Given the description of an element on the screen output the (x, y) to click on. 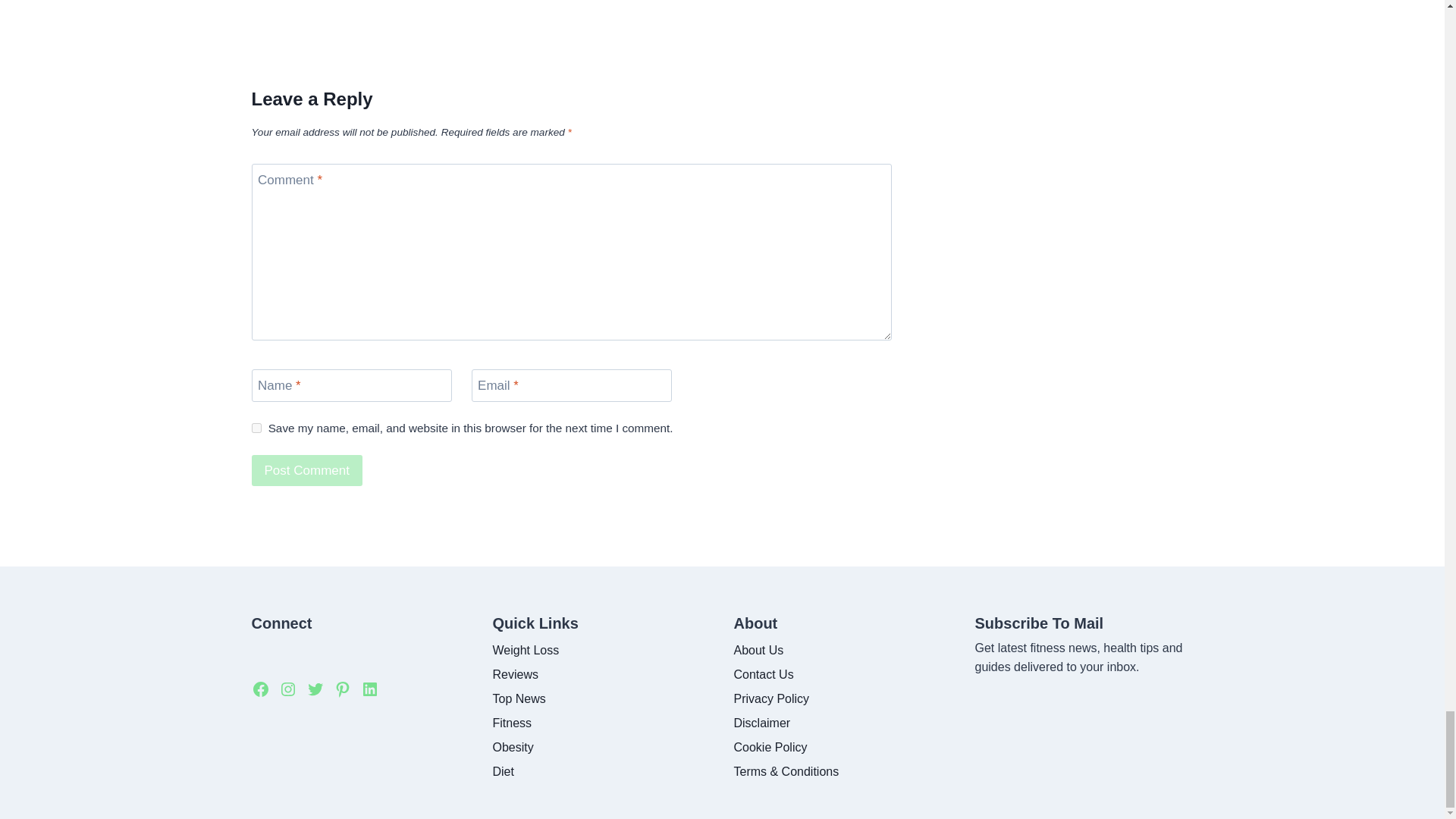
yes (256, 428)
Post Comment (306, 470)
